Given the description of an element on the screen output the (x, y) to click on. 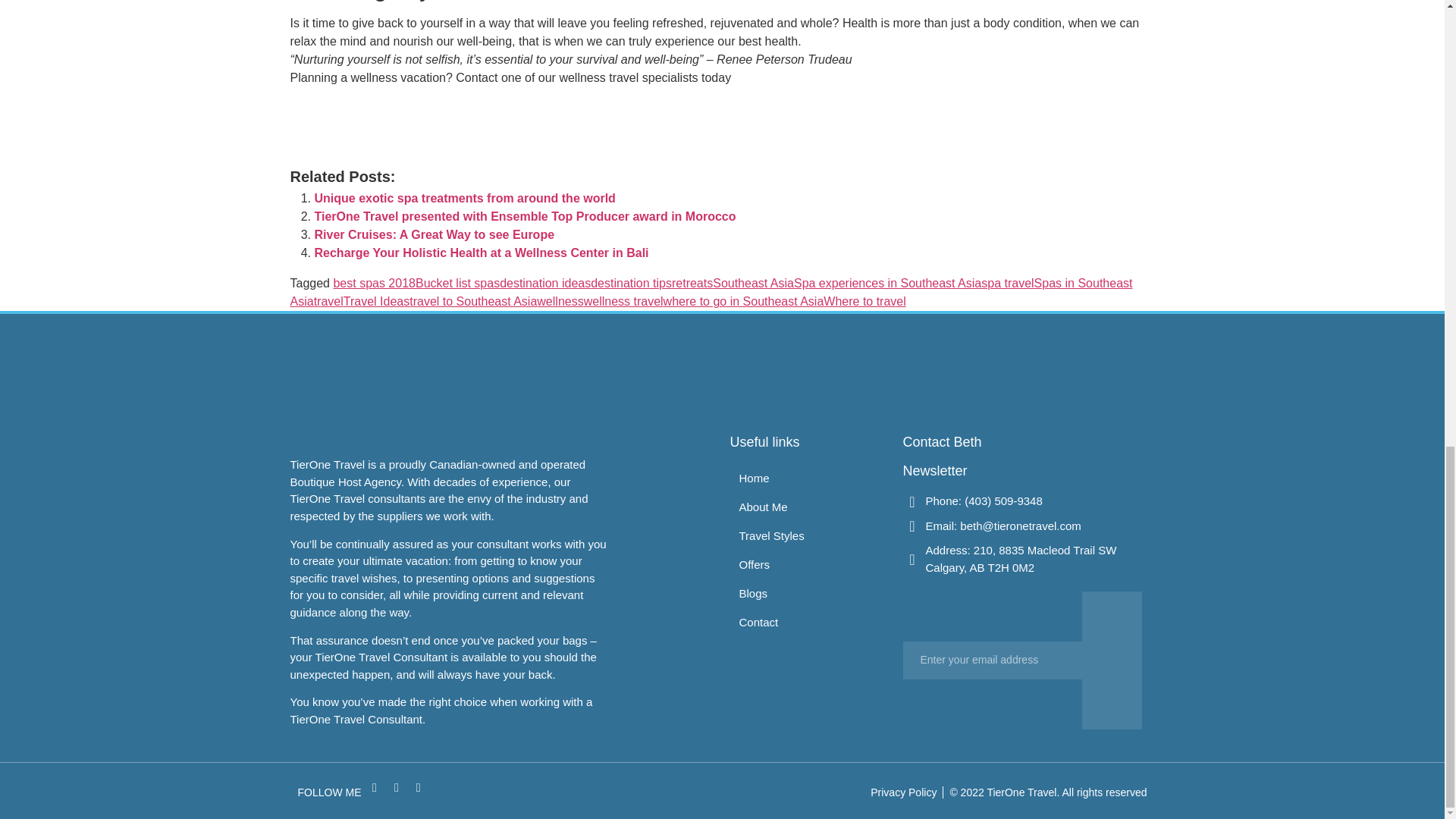
Bucket list spas (456, 282)
Recharge Your Holistic Health at a Wellness Center in Bali (480, 252)
best spas 2018 (373, 282)
River Cruises: A Great Way to see Europe (434, 234)
destination tips (631, 282)
Unique exotic spa treatments from around the world (464, 197)
River Cruises: A Great Way to see Europe (434, 234)
Recharge Your Holistic Health at a Wellness Center in Bali (480, 252)
